Given the description of an element on the screen output the (x, y) to click on. 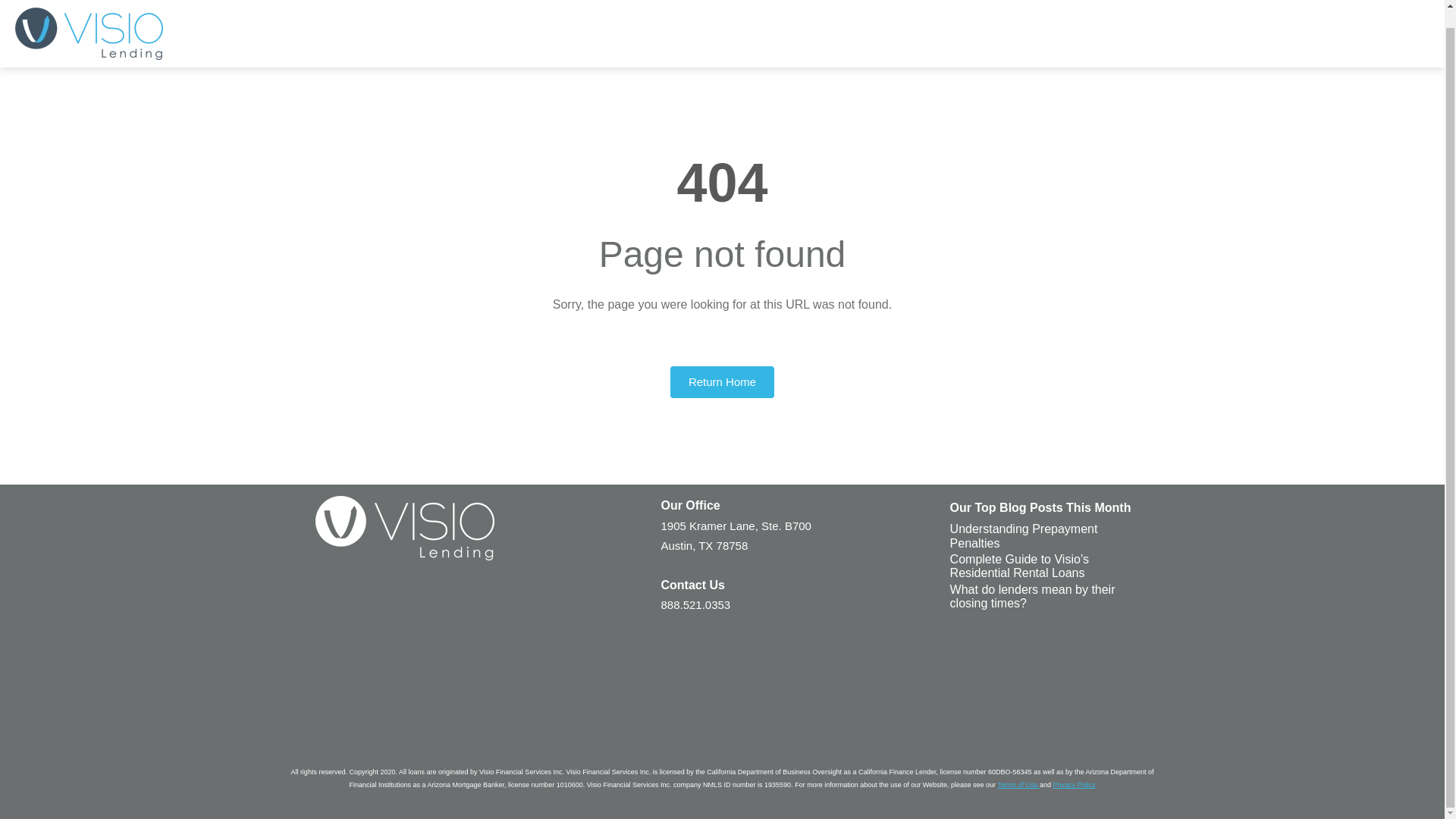
Our Process (816, 15)
Partner Programs (1030, 15)
About Us (1130, 15)
Return Home (721, 382)
Return Home (721, 382)
Account Log In (1376, 15)
Loan Programs (917, 15)
Contact (1288, 15)
Understanding Prepayment Penalties (1023, 536)
Resources (1211, 15)
